Given the description of an element on the screen output the (x, y) to click on. 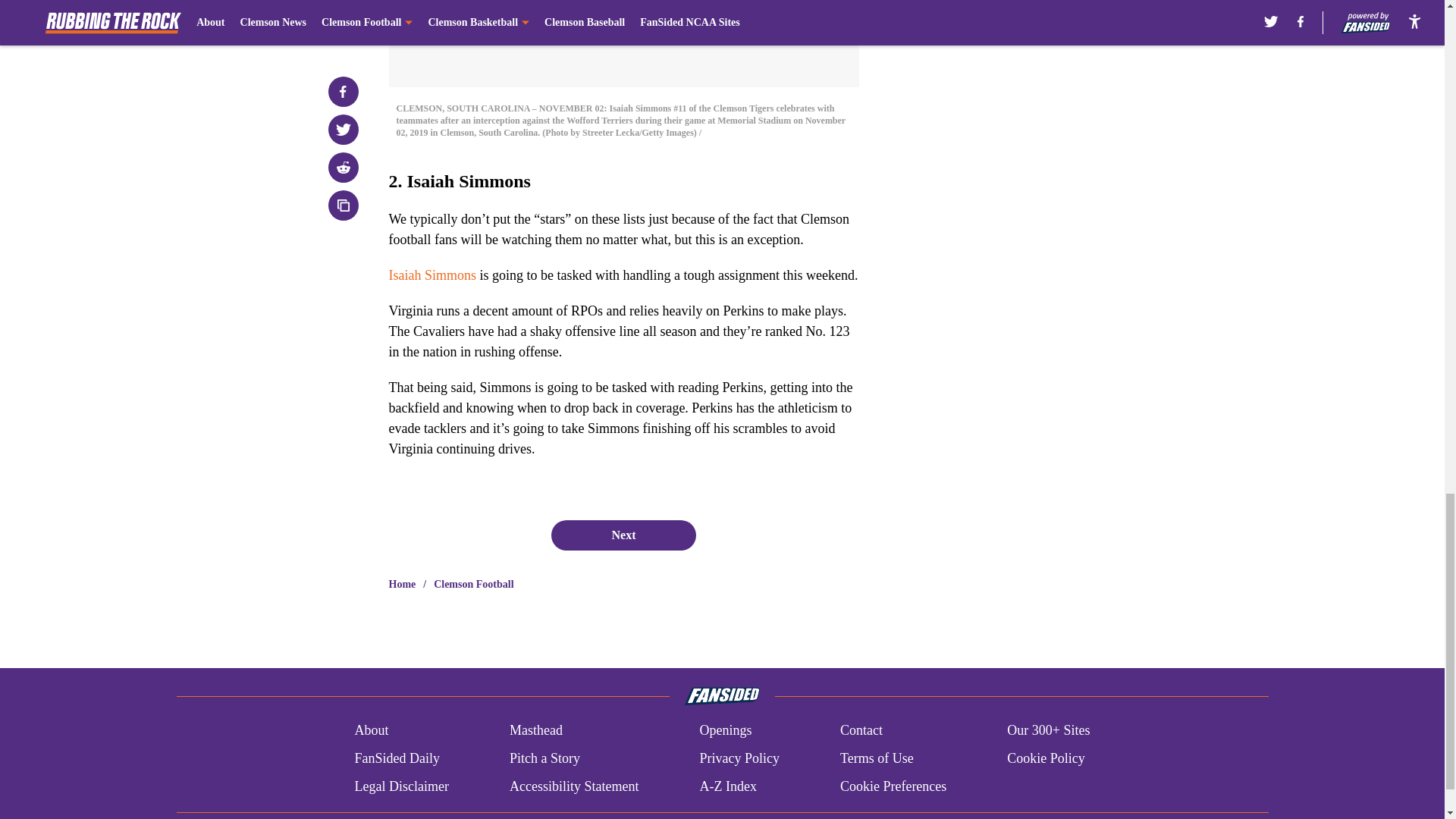
Pitch a Story (544, 758)
Home (401, 584)
Next (622, 535)
Contact (861, 730)
Terms of Use (877, 758)
Isaiah Simmons (432, 274)
FanSided Daily (396, 758)
About (370, 730)
Openings (724, 730)
Clemson Football (473, 584)
Privacy Policy (738, 758)
Masthead (535, 730)
